Given the description of an element on the screen output the (x, y) to click on. 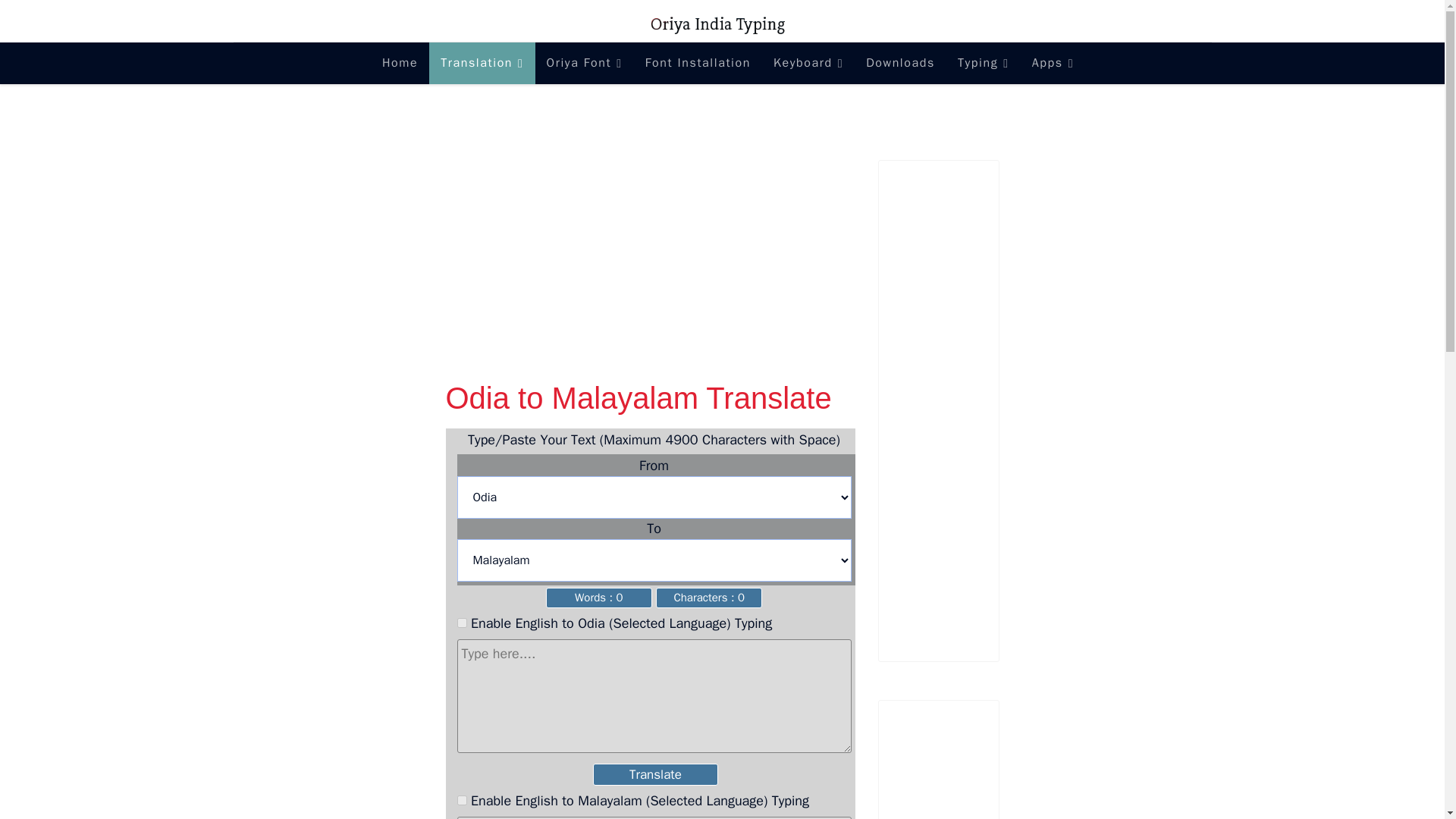
Words : 0 (599, 598)
Downloads (900, 63)
on (461, 800)
Keyboard (807, 63)
Font Installation (697, 63)
Oriya Font (584, 63)
Home (400, 63)
Characters : 0 (708, 598)
Translate (654, 773)
Translation (481, 63)
Advertisement (746, 265)
on (461, 622)
Typing (983, 63)
Apps (1047, 63)
Advertisement (970, 771)
